Given the description of an element on the screen output the (x, y) to click on. 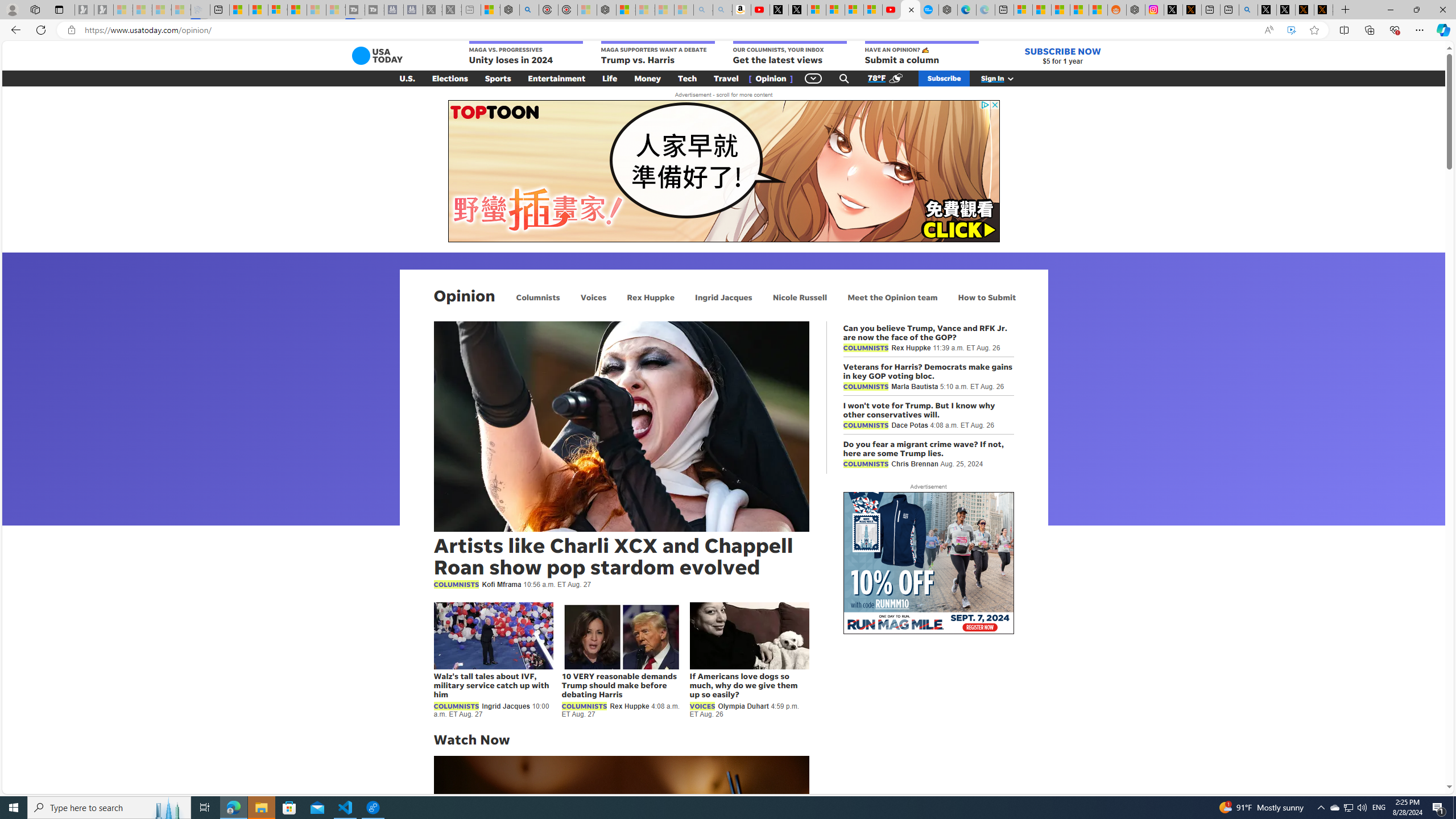
Gloom - YouTube (891, 9)
Life (609, 78)
USA TODAY (376, 55)
Shanghai, China weather forecast | Microsoft Weather (1041, 9)
Newsletter Sign Up - Sleeping (102, 9)
Log in to X / X (1173, 9)
New tab - Sleeping (471, 9)
Nordace - Summer Adventures 2024 (1135, 9)
